Given the description of an element on the screen output the (x, y) to click on. 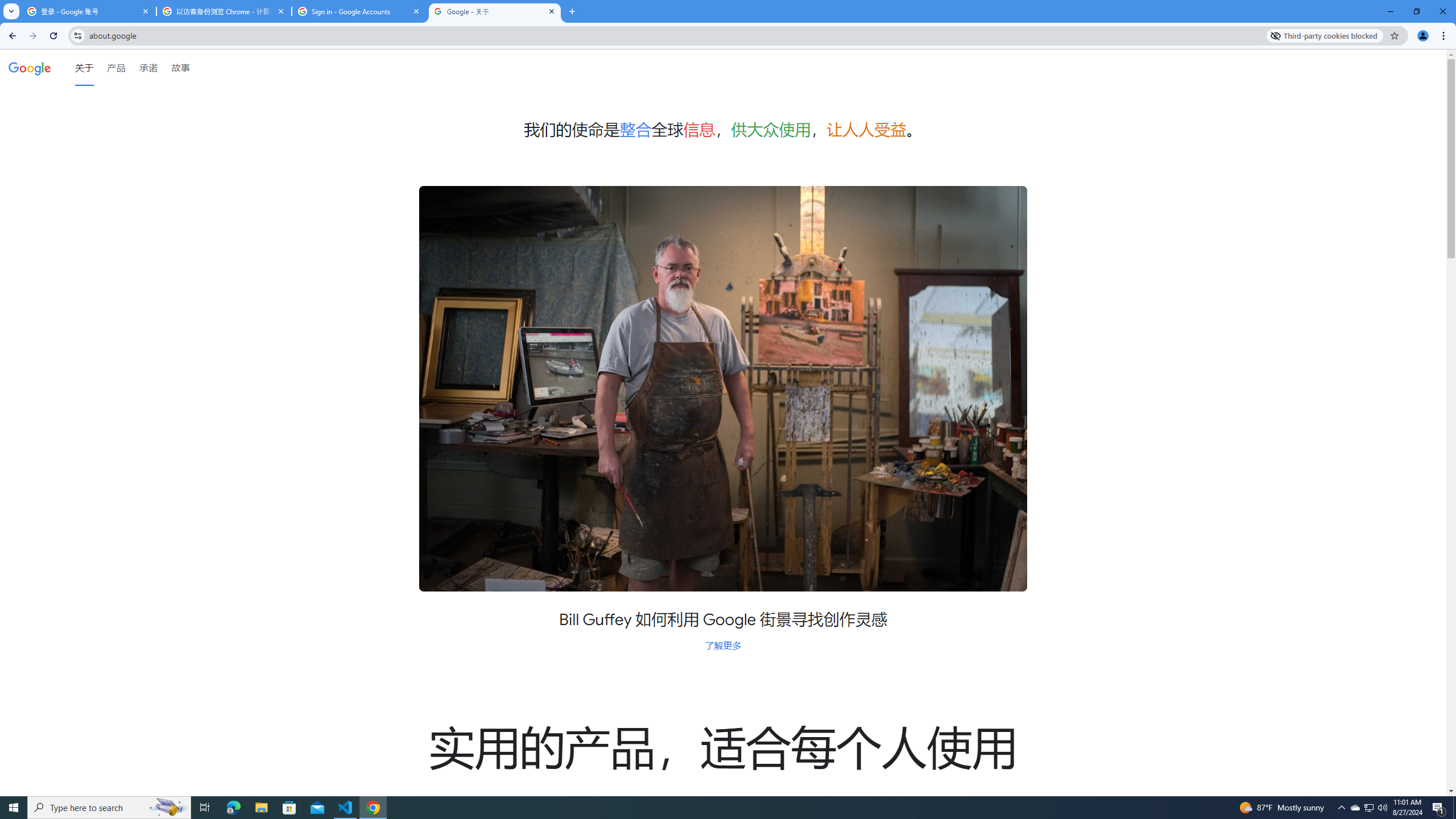
Sign in - Google Accounts (359, 11)
